Given the description of an element on the screen output the (x, y) to click on. 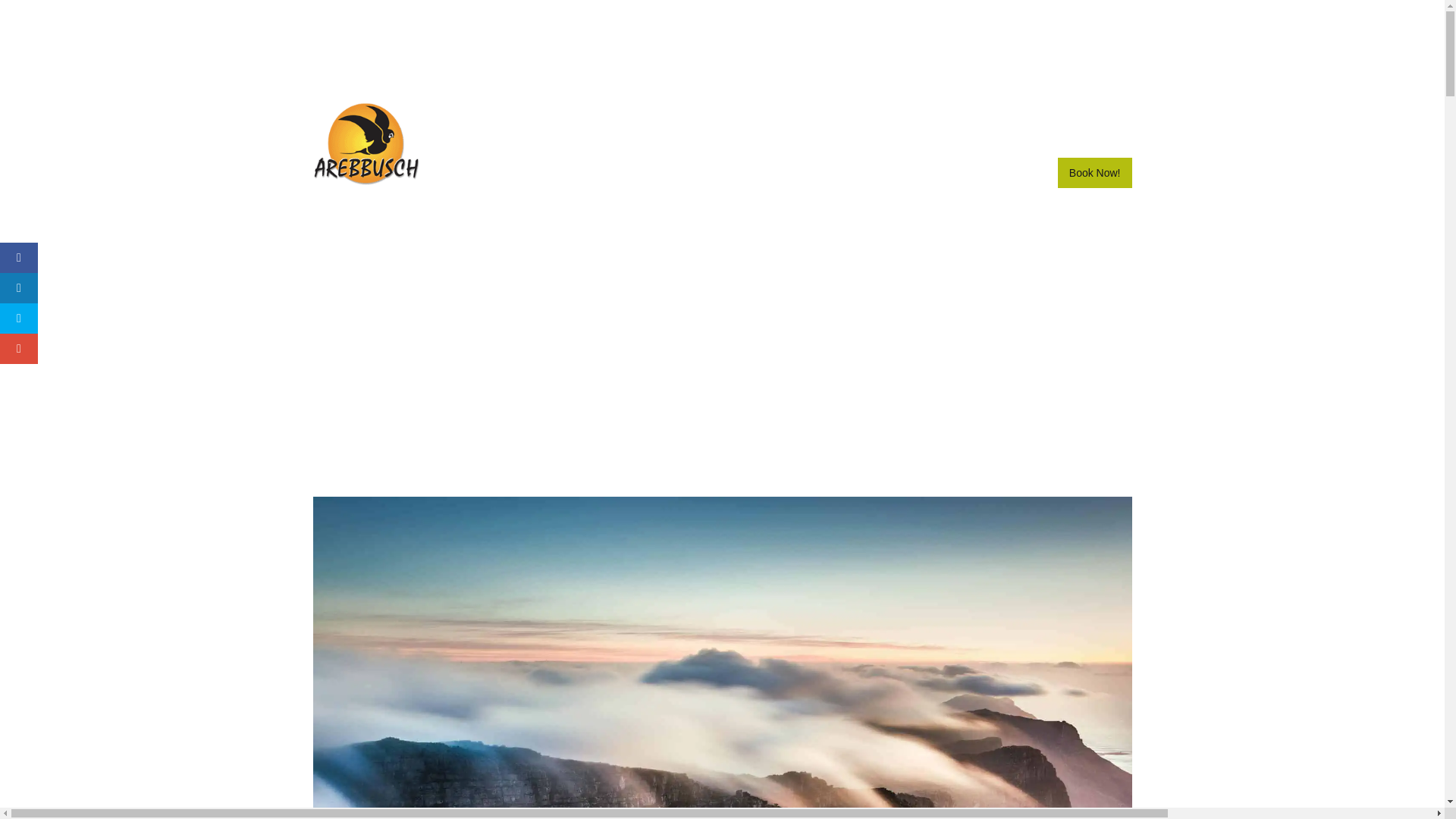
Download Our App (866, 115)
Accommodation (556, 115)
Nature At Arebbusch (982, 115)
